Given the description of an element on the screen output the (x, y) to click on. 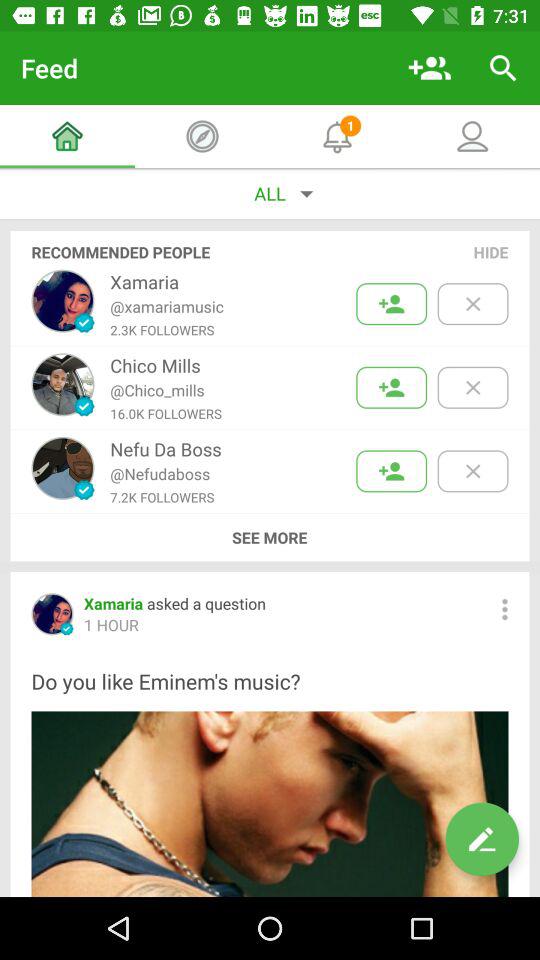
select icon to the right of the feed item (429, 67)
